Given the description of an element on the screen output the (x, y) to click on. 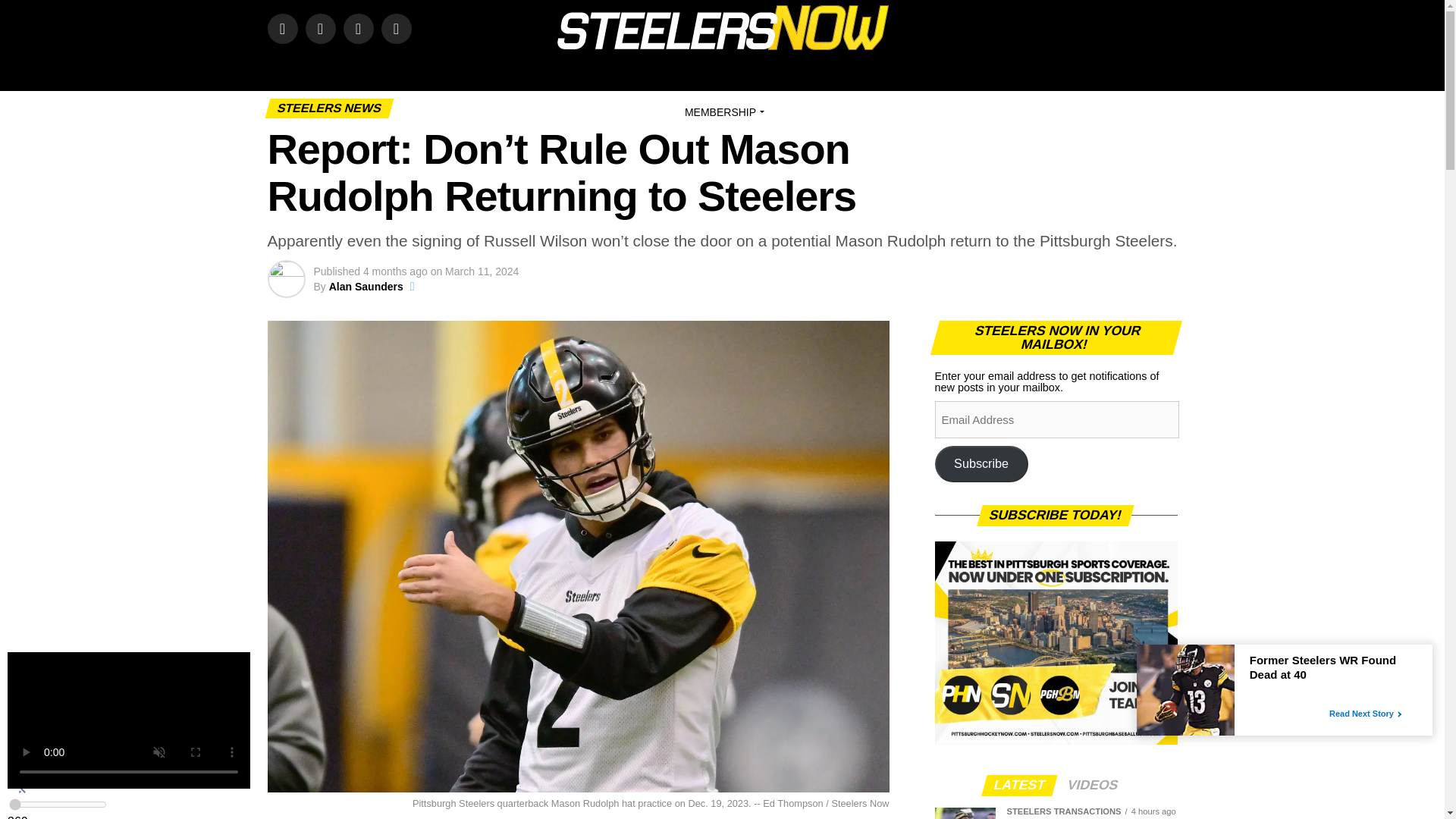
ANALYSIS (699, 71)
Posts by Alan Saunders (366, 286)
STEELERS NEWS (607, 71)
HOME (363, 71)
